Given the description of an element on the screen output the (x, y) to click on. 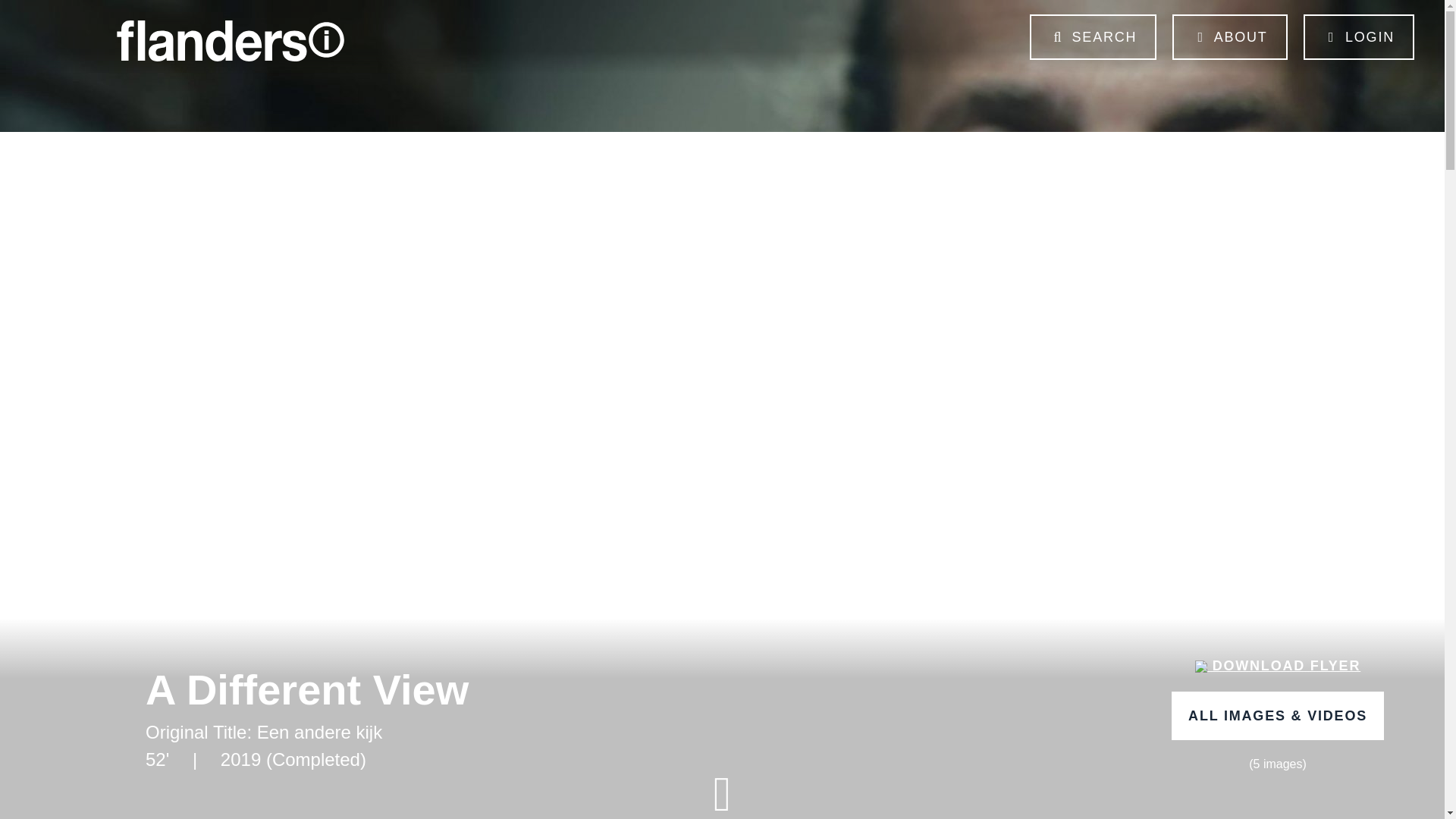
Download flyer (1278, 666)
DOWNLOAD FLYER (1278, 666)
LOGIN (1358, 35)
ABOUT (1229, 35)
SEARCH (1092, 35)
